Given the description of an element on the screen output the (x, y) to click on. 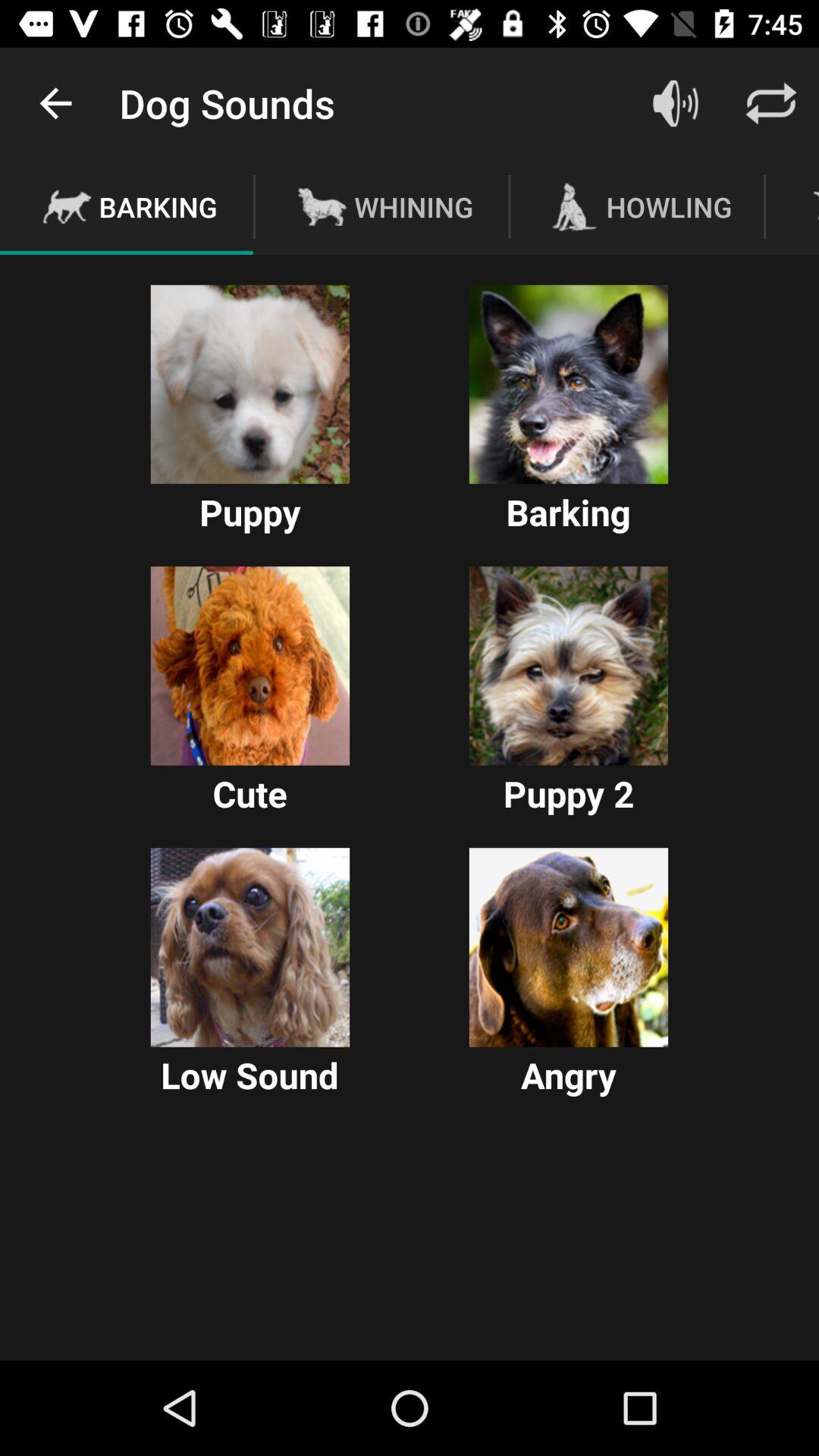
dog images (568, 665)
